Given the description of an element on the screen output the (x, y) to click on. 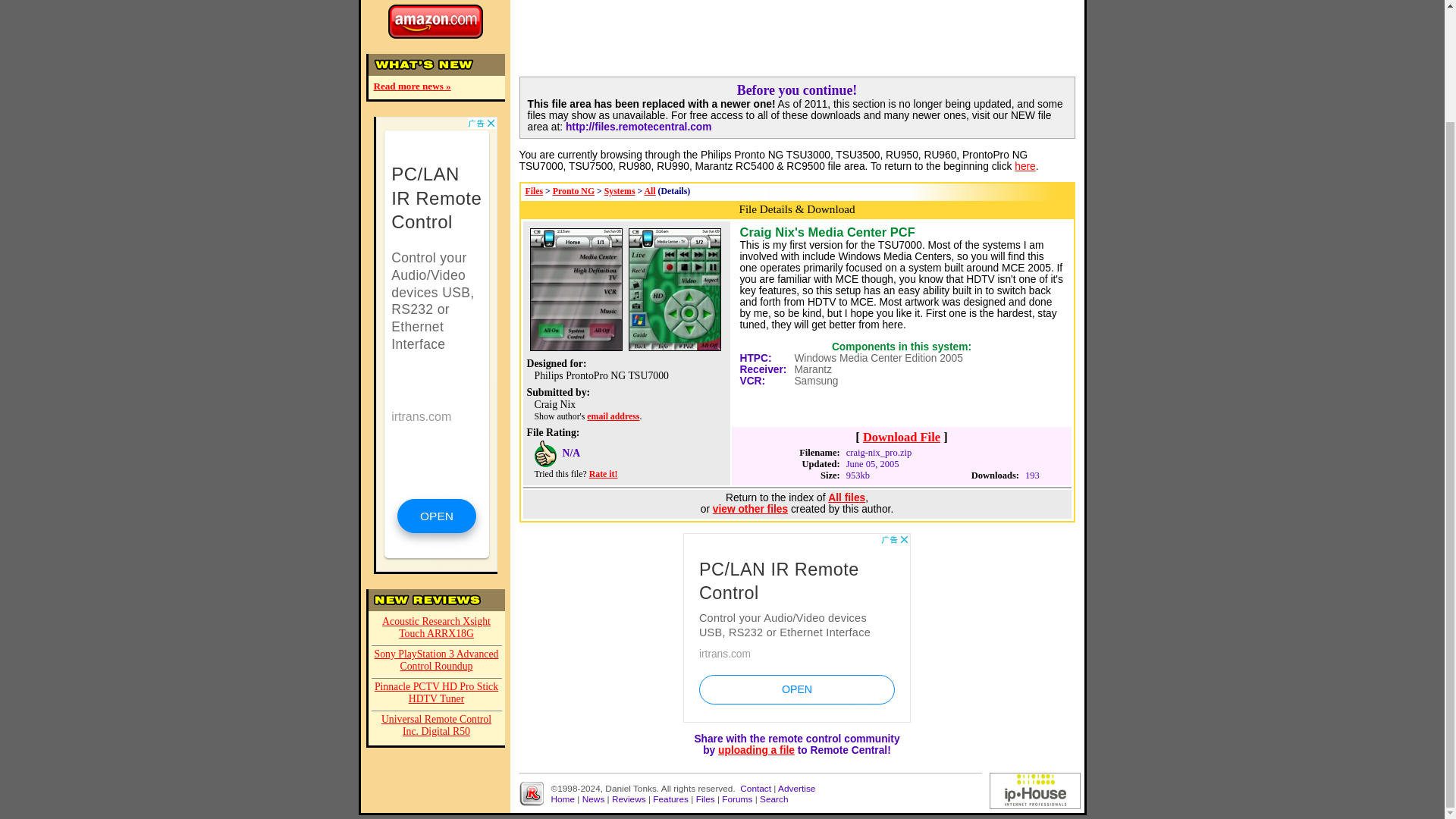
Find remotes at: (434, 19)
Download File (901, 436)
Systems (619, 190)
Contact (755, 787)
Home (562, 798)
Pinnacle PCTV HD Pro Stick HDTV Tuner (436, 694)
Advertisement (796, 627)
email address (612, 416)
Features (670, 798)
Universal Remote Control Inc. Digital R50 (436, 726)
